Given the description of an element on the screen output the (x, y) to click on. 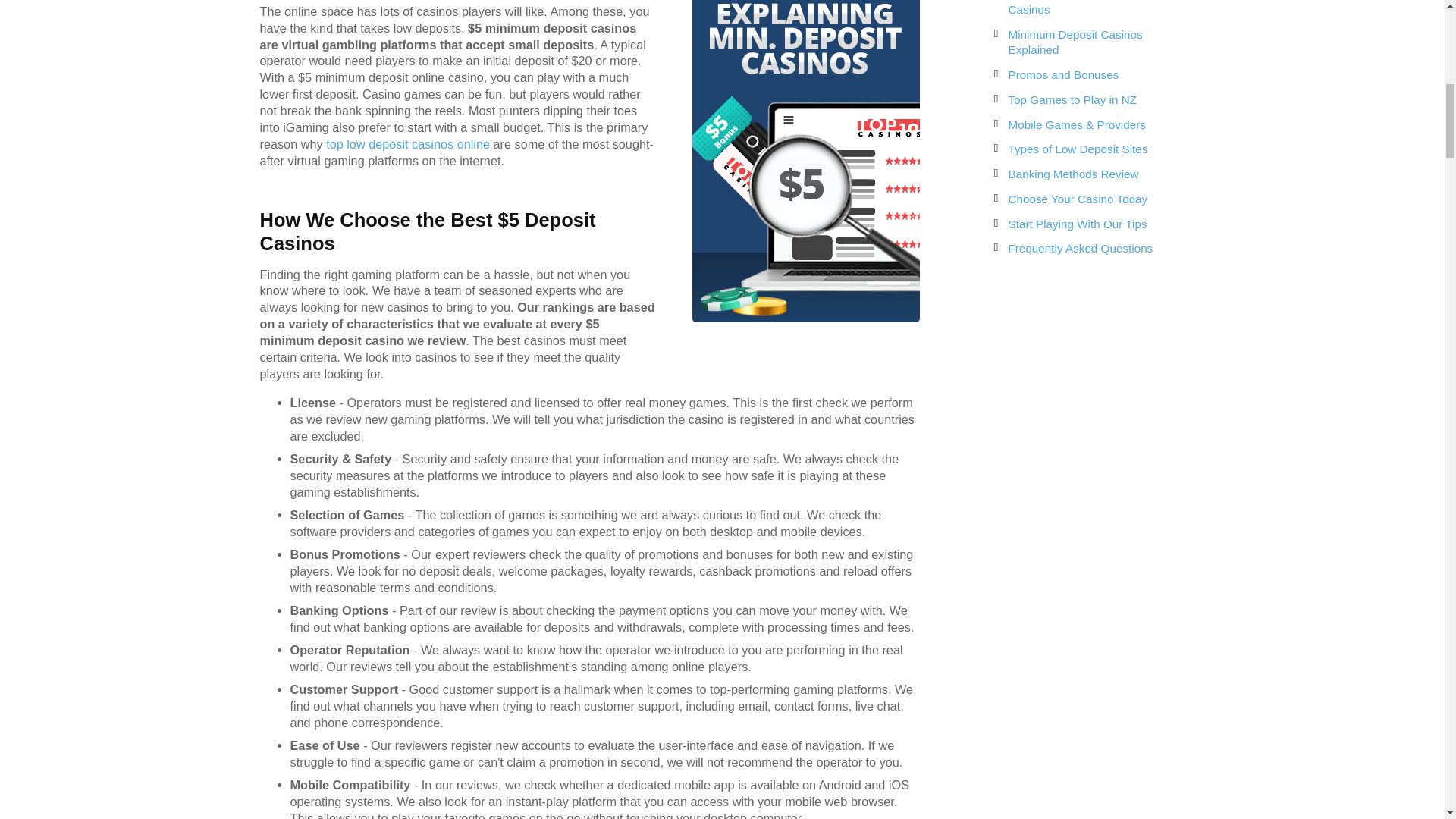
Promos and Bonuses (1084, 75)
Start Playing With Our Tips (1084, 224)
Banking Methods Review (1084, 174)
Top Games to Play in NZ (1084, 100)
Types of Low Deposit Sites (1084, 149)
Choose Your Casino Today (1084, 199)
Frequently Asked Questions (1084, 248)
Minimum Deposit Casinos Explained (1084, 42)
